Given the description of an element on the screen output the (x, y) to click on. 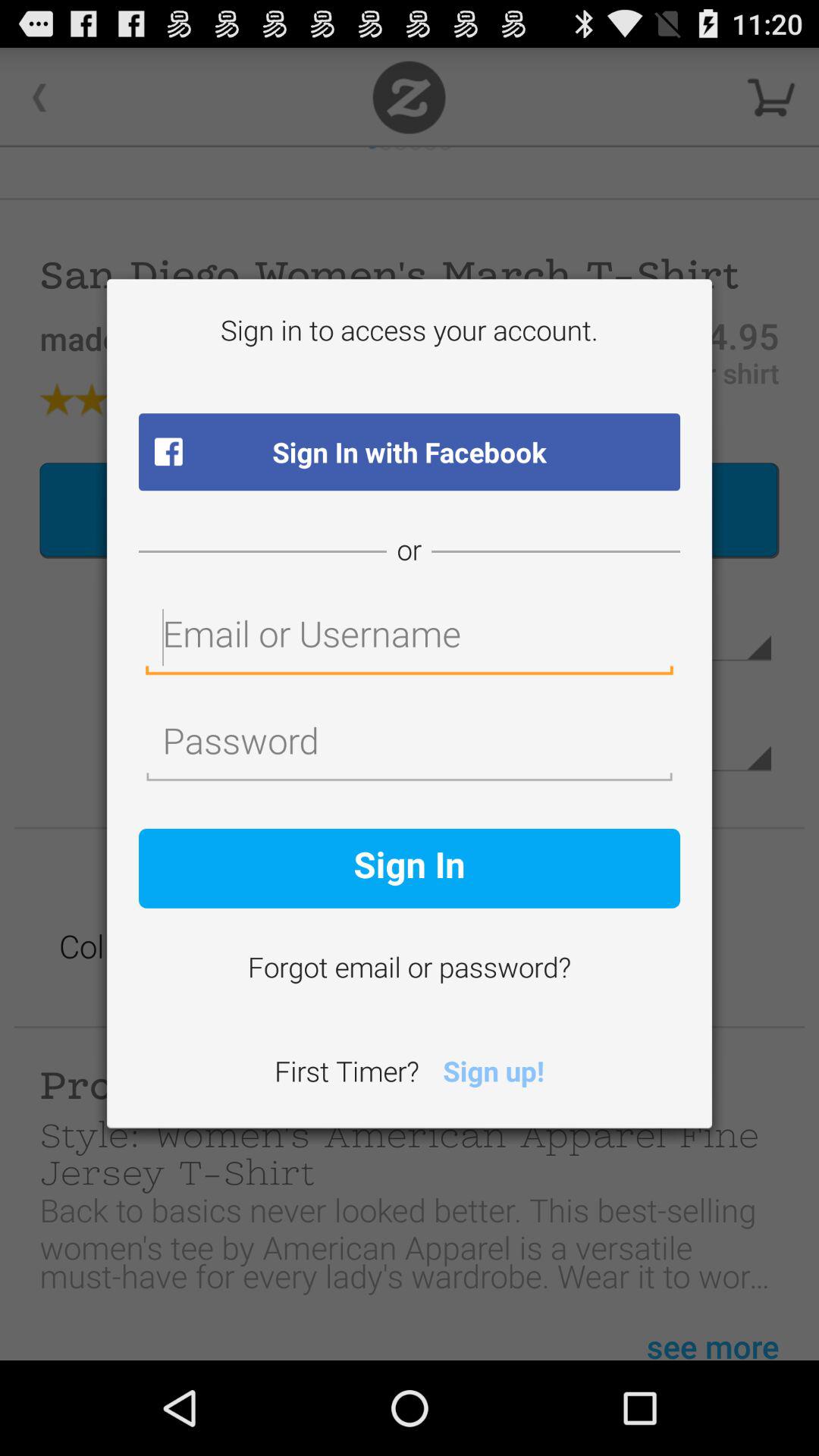
press item below forgot email or (493, 1073)
